Given the description of an element on the screen output the (x, y) to click on. 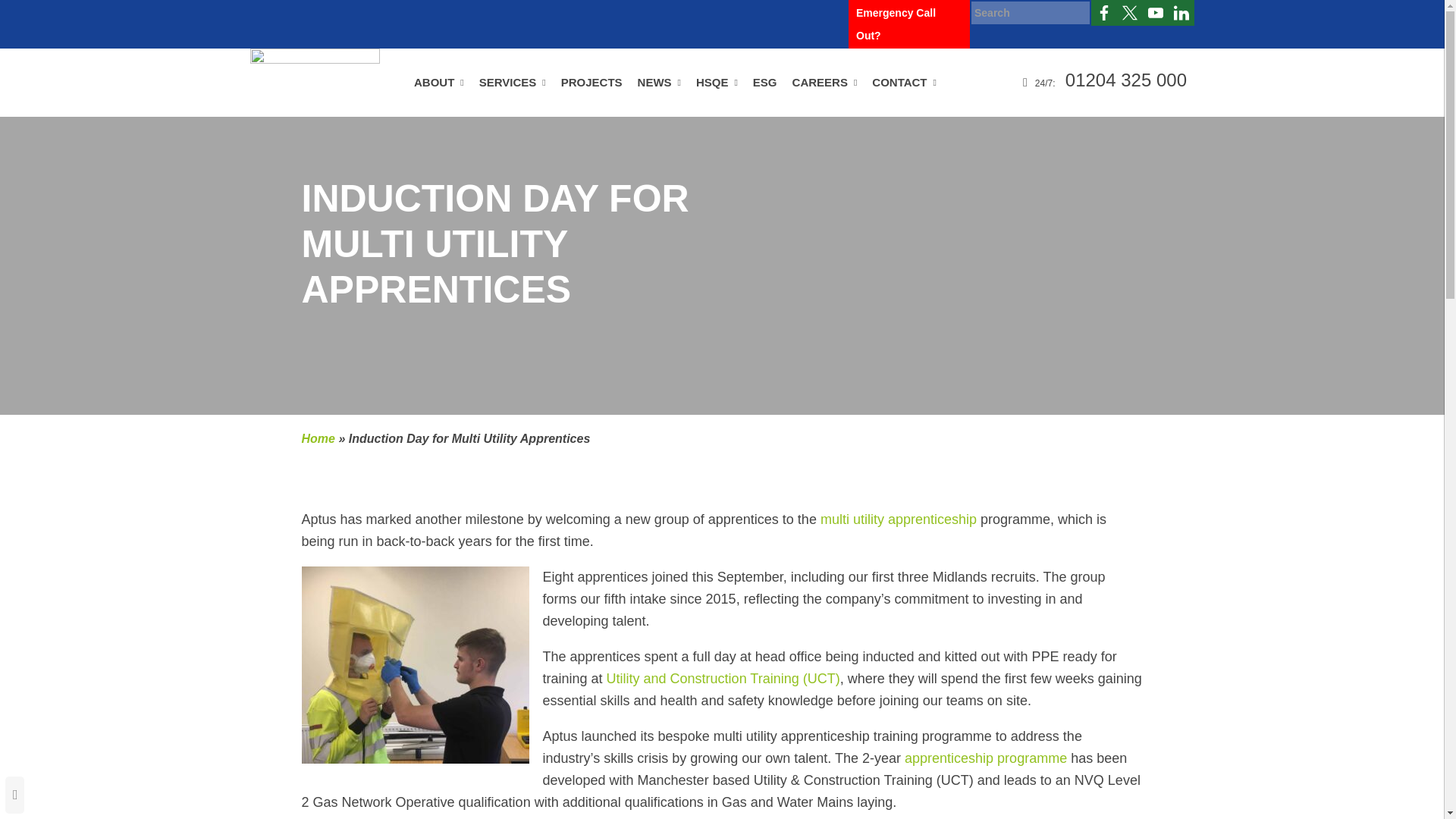
Linkedin (1181, 12)
IMG 5888 (415, 664)
Facebook (1103, 12)
Twitter (1129, 12)
Youtube (1155, 12)
